Given the description of an element on the screen output the (x, y) to click on. 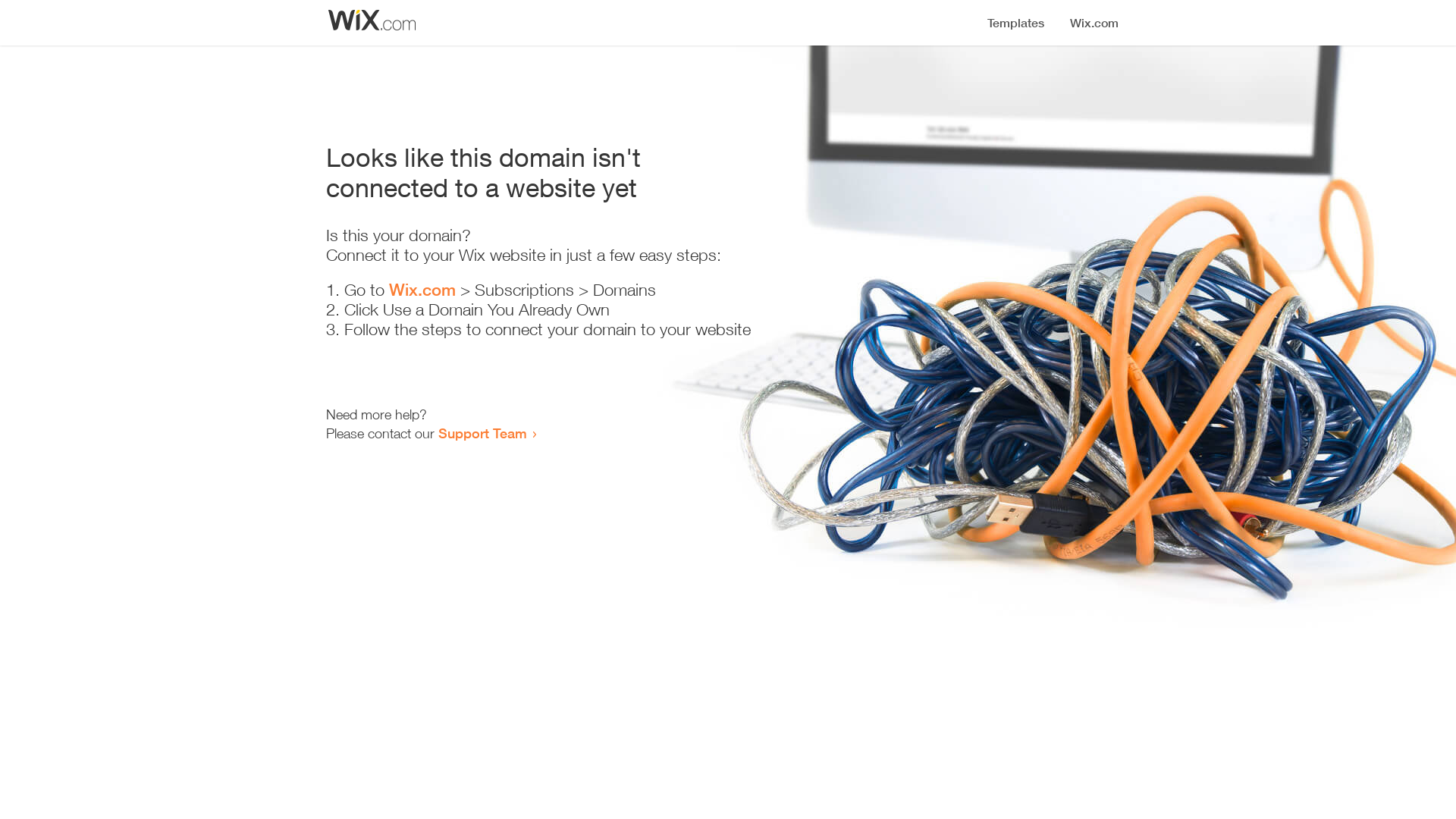
Support Team Element type: text (482, 432)
Wix.com Element type: text (422, 289)
